Given the description of an element on the screen output the (x, y) to click on. 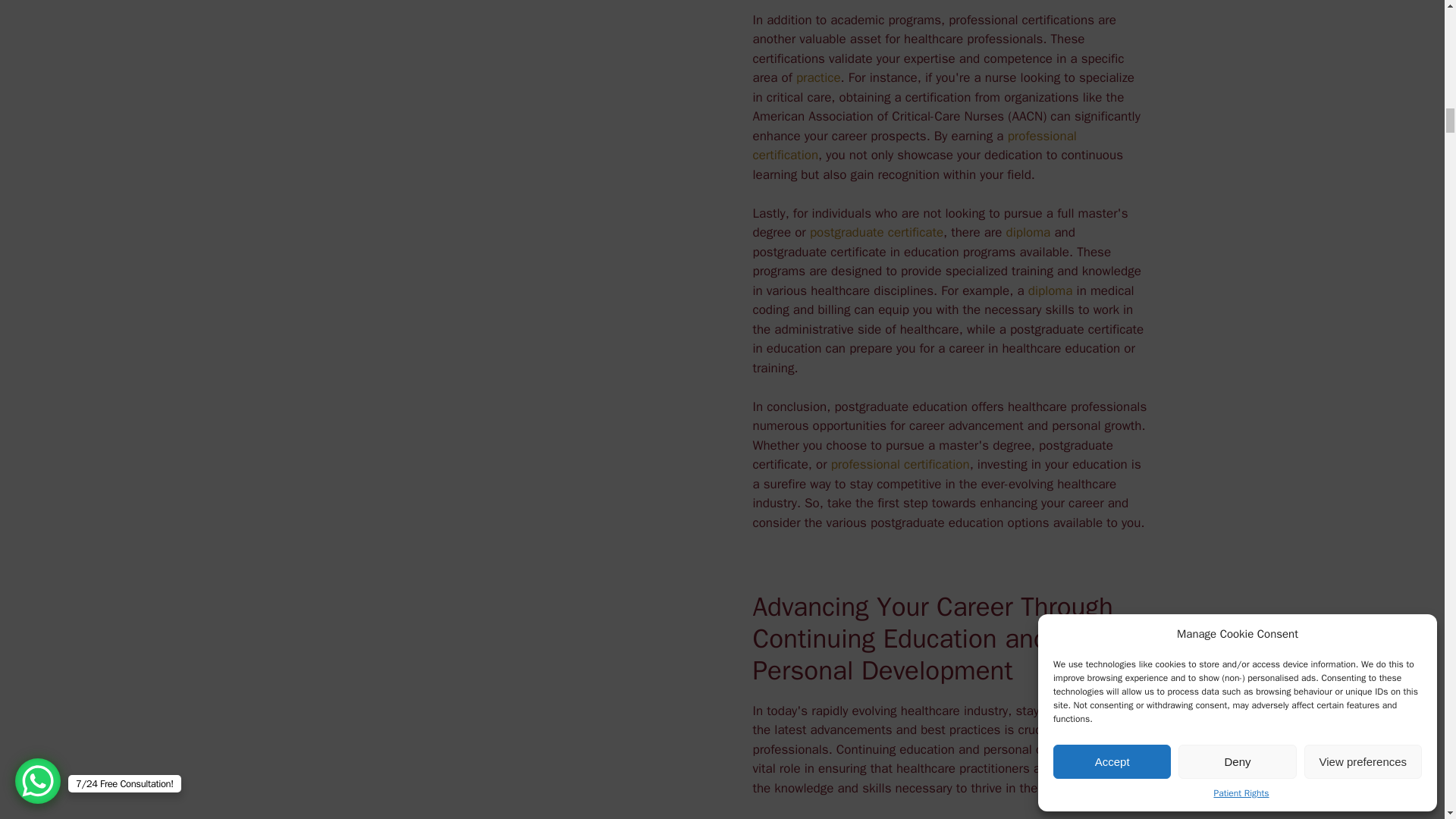
professional certification (900, 464)
diploma (1050, 290)
postgraduate certificate (876, 232)
